Given the description of an element on the screen output the (x, y) to click on. 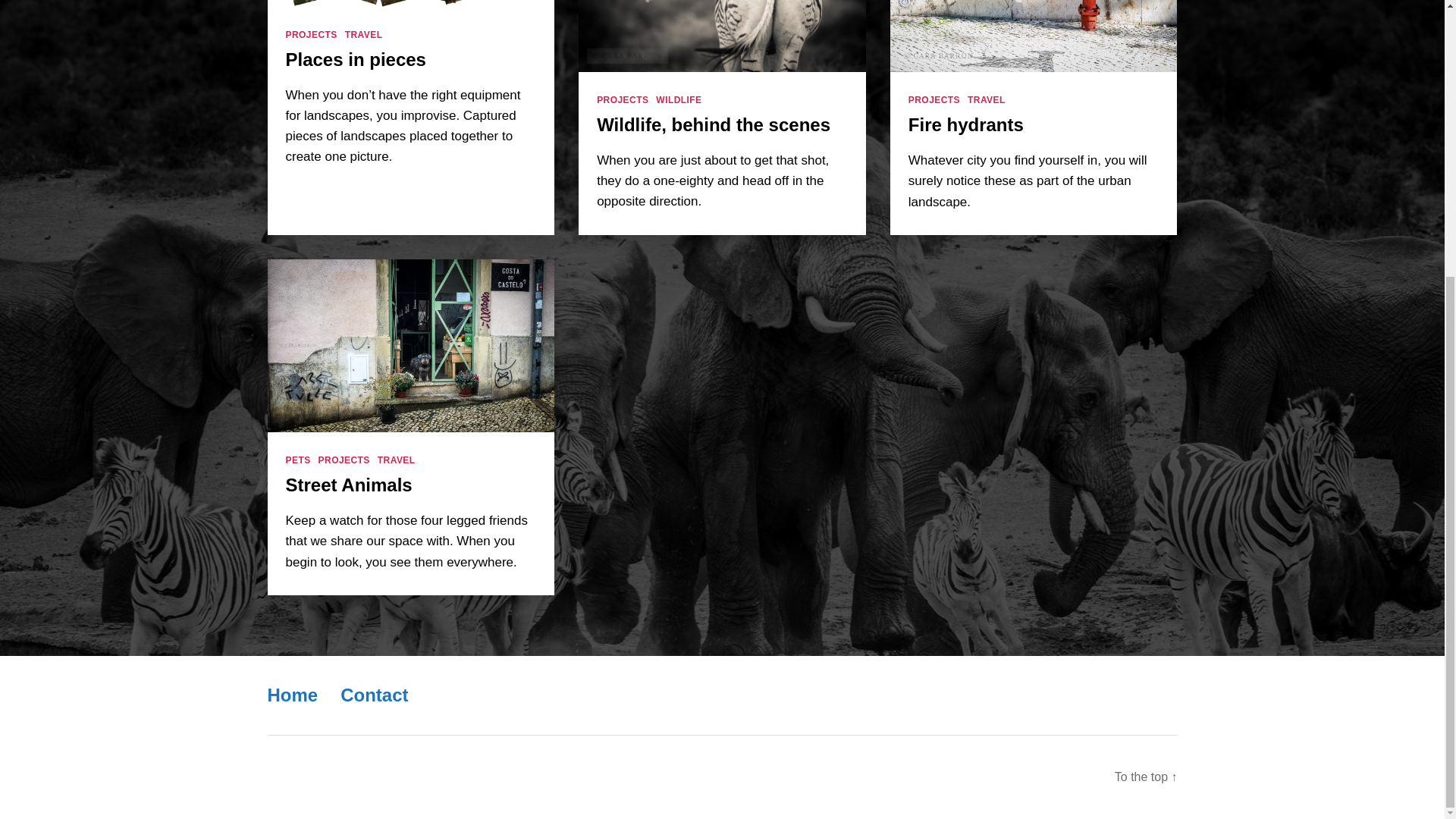
PROJECTS (621, 100)
Wildlife, behind the scenes (712, 124)
TRAVEL (363, 34)
PETS (297, 460)
WILDLIFE (678, 100)
Places in pieces (355, 59)
TRAVEL (987, 100)
PROJECTS (310, 34)
PROJECTS (933, 100)
Fire hydrants (965, 124)
